Given the description of an element on the screen output the (x, y) to click on. 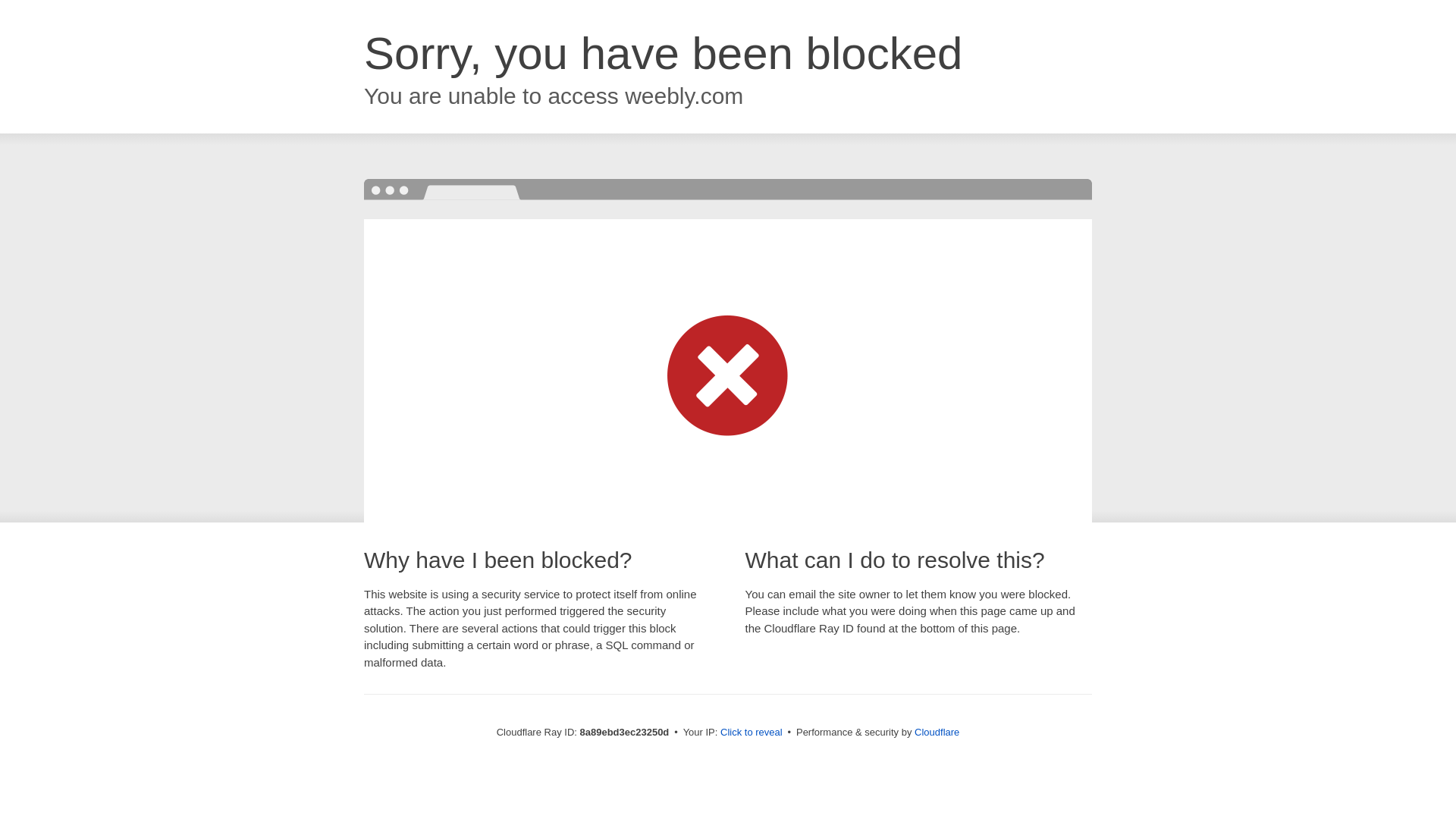
Click to reveal (751, 732)
Cloudflare (936, 731)
